Given the description of an element on the screen output the (x, y) to click on. 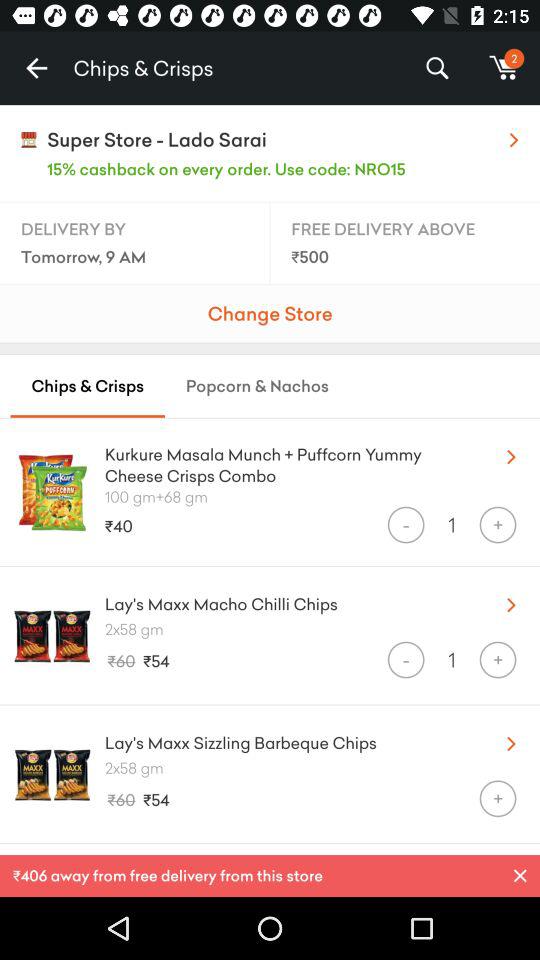
turn off the item to the left of chips & crisps item (36, 68)
